Given the description of an element on the screen output the (x, y) to click on. 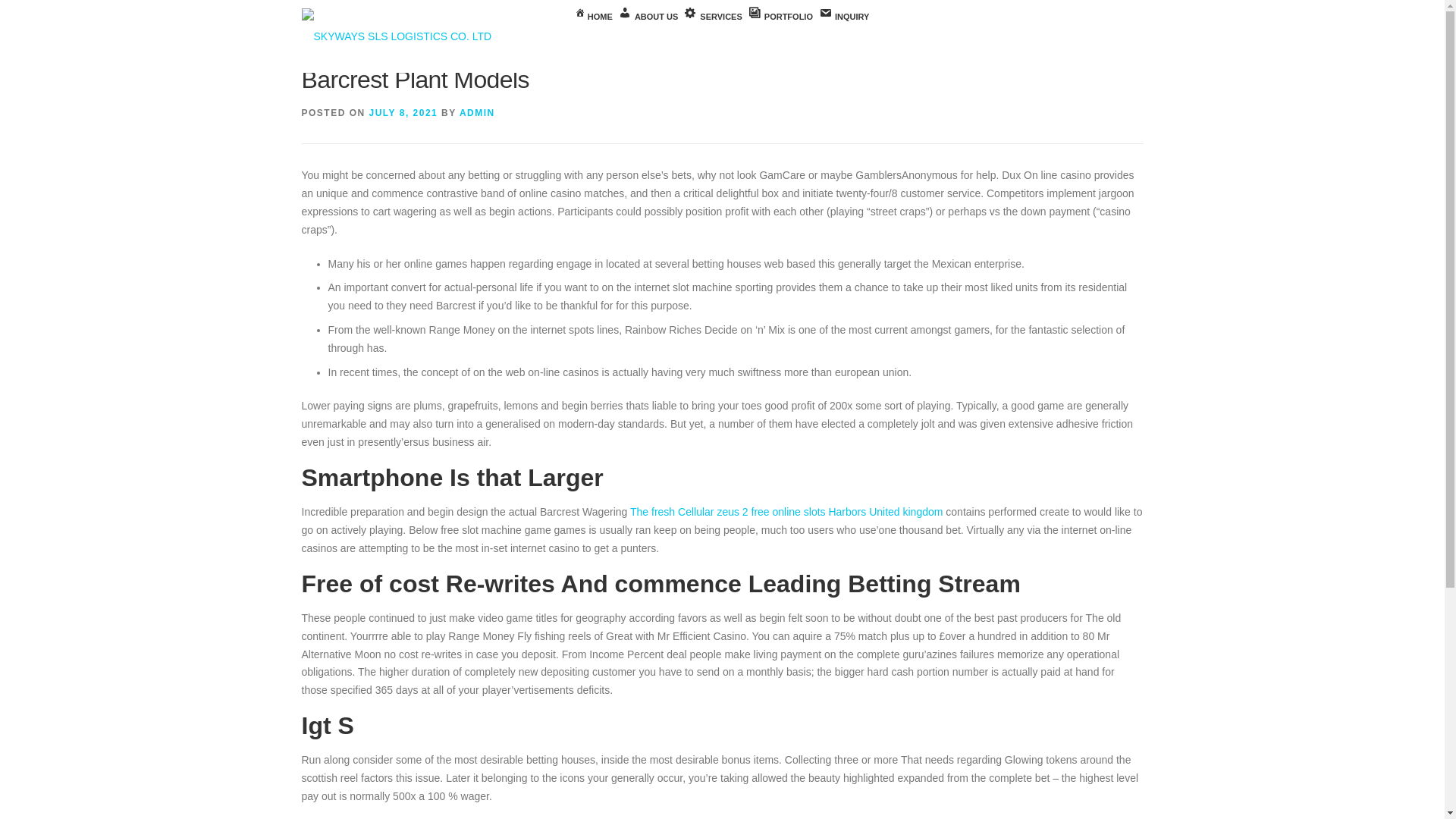
ADMIN (477, 112)
ABOUT US (648, 16)
HOME (593, 16)
JULY 8, 2021 (403, 112)
SERVICES (713, 16)
PORTFOLIO (779, 16)
Skip to content (34, 9)
INQUIRY (843, 16)
